Given the description of an element on the screen output the (x, y) to click on. 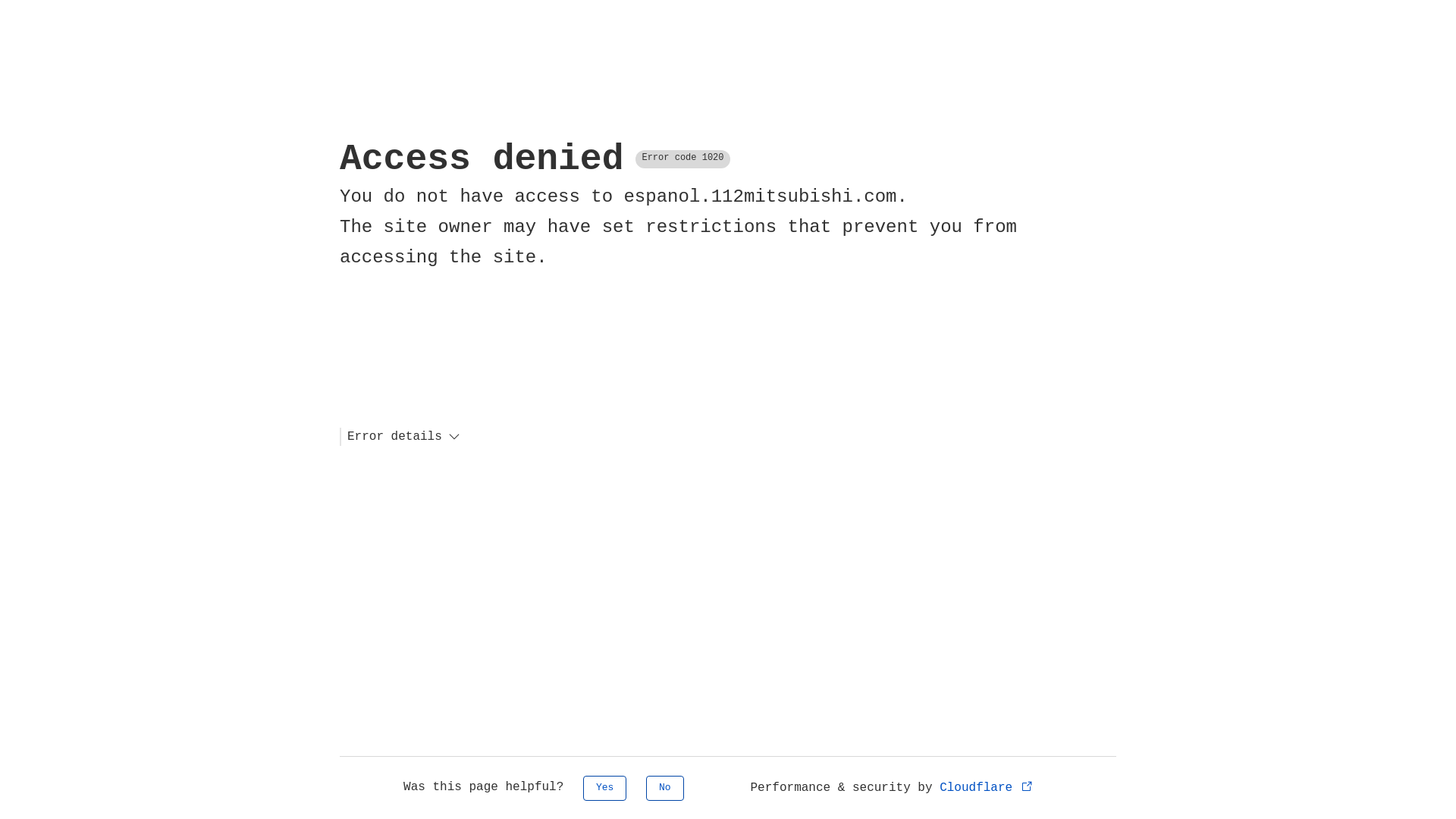
Opens in new tab Element type: hover (1027, 785)
Cloudflare Element type: text (986, 787)
Yes Element type: text (604, 787)
No Element type: text (665, 787)
